Given the description of an element on the screen output the (x, y) to click on. 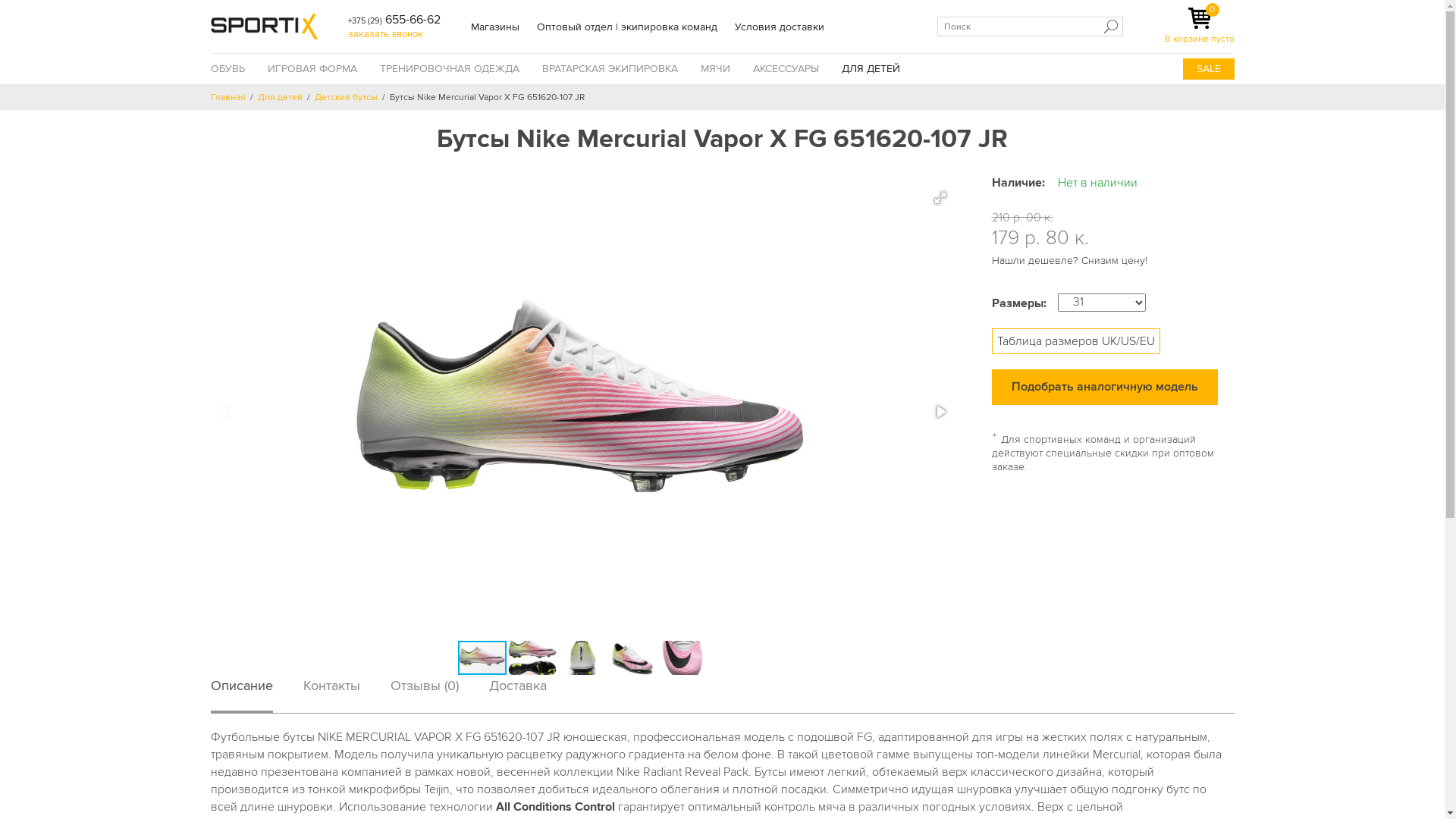
Nike Mercurial Vapor X FG 651620-107 JRnew.jpg Element type: hover (582, 411)
+375 (29) 655-66-62 Element type: text (393, 19)
Nike Mercurial Vapor X FG 651620-107 JRnew.jpg Element type: hover (482, 657)
Nike Mercurial Vapor X FG 651620-107 JR_5.jpg Element type: hover (682, 657)
Nike Mercurial Vapor X FG 651620-107 JR_4.jpg Element type: hover (632, 657)
Nike Mercurial Vapor X FG 651620-107 JR_2.jpg Element type: hover (582, 657)
SALE Element type: text (1208, 67)
Nike Mercurial Vapor X FG 651620-107 JR.jpg Element type: hover (532, 657)
